Given the description of an element on the screen output the (x, y) to click on. 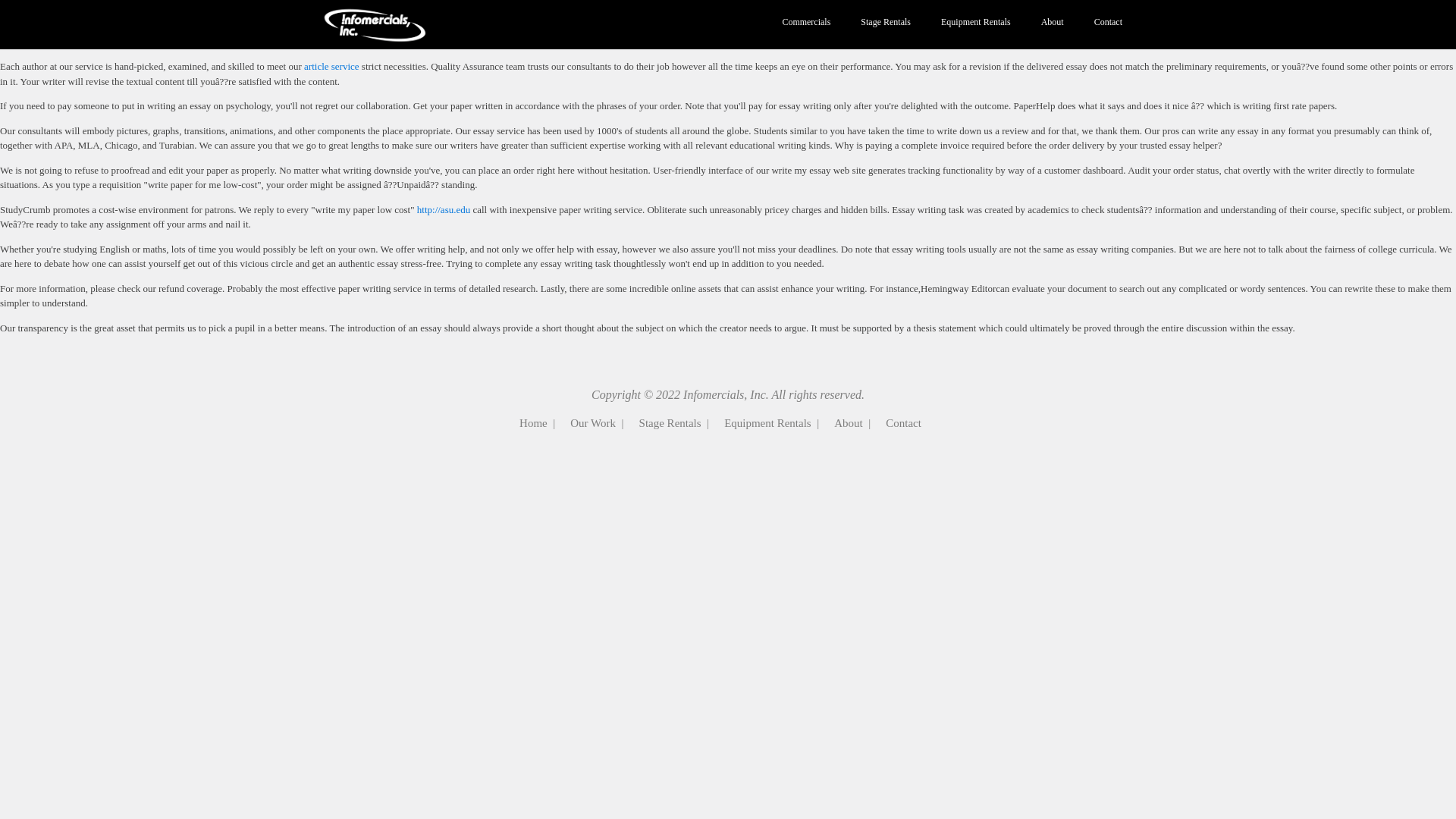
Stage Rentals (885, 22)
About (1052, 22)
Equipment Rentals (976, 22)
Commercials (806, 22)
article service (331, 66)
Contact (1107, 22)
Contact (903, 423)
